Given the description of an element on the screen output the (x, y) to click on. 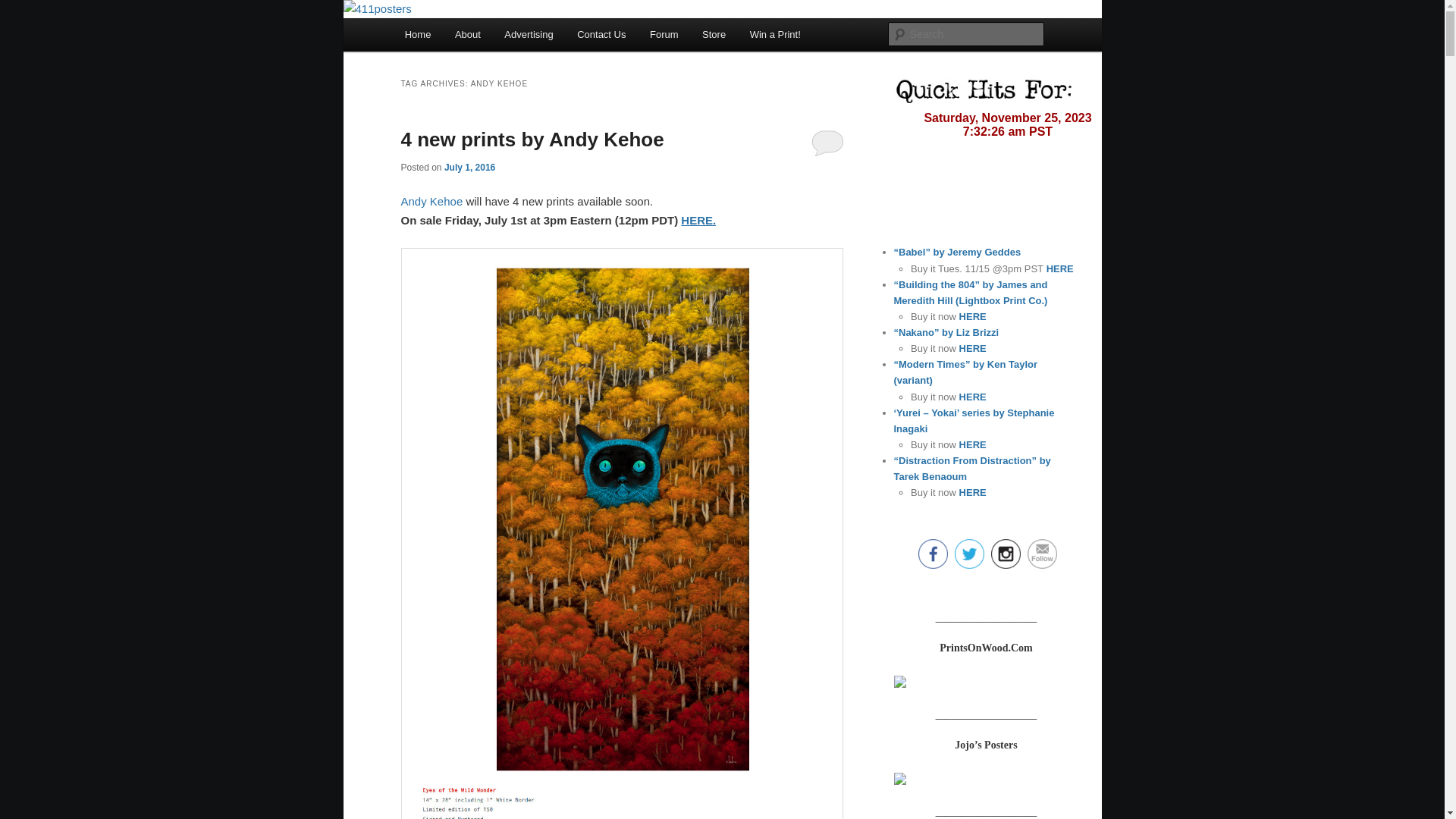
Follow by Email Element type: hover (1042, 553)
Facebook Element type: hover (932, 553)
HERE Element type: text (971, 396)
Andy Kehoe Element type: text (431, 200)
HERE Element type: text (971, 444)
Skip to secondary content Element type: text (479, 37)
HERE Element type: text (971, 316)
Forum Element type: text (663, 34)
Instagram Element type: hover (1005, 553)
HERE Element type: text (971, 492)
Win a Print! Element type: text (774, 34)
Twitter Element type: hover (969, 553)
July 1, 2016 Element type: text (469, 167)
Store Element type: text (713, 34)
HERE. Element type: text (697, 219)
Advertising Element type: text (528, 34)
4 new prints by Andy Kehoe Element type: text (531, 139)
411posters Element type: text (460, 54)
Skip to primary content Element type: text (472, 37)
Home Element type: text (417, 34)
HERE Element type: text (1058, 268)
Contact Us Element type: text (600, 34)
About Element type: text (467, 34)
Search Element type: text (24, 8)
HERE Element type: text (971, 348)
